Given the description of an element on the screen output the (x, y) to click on. 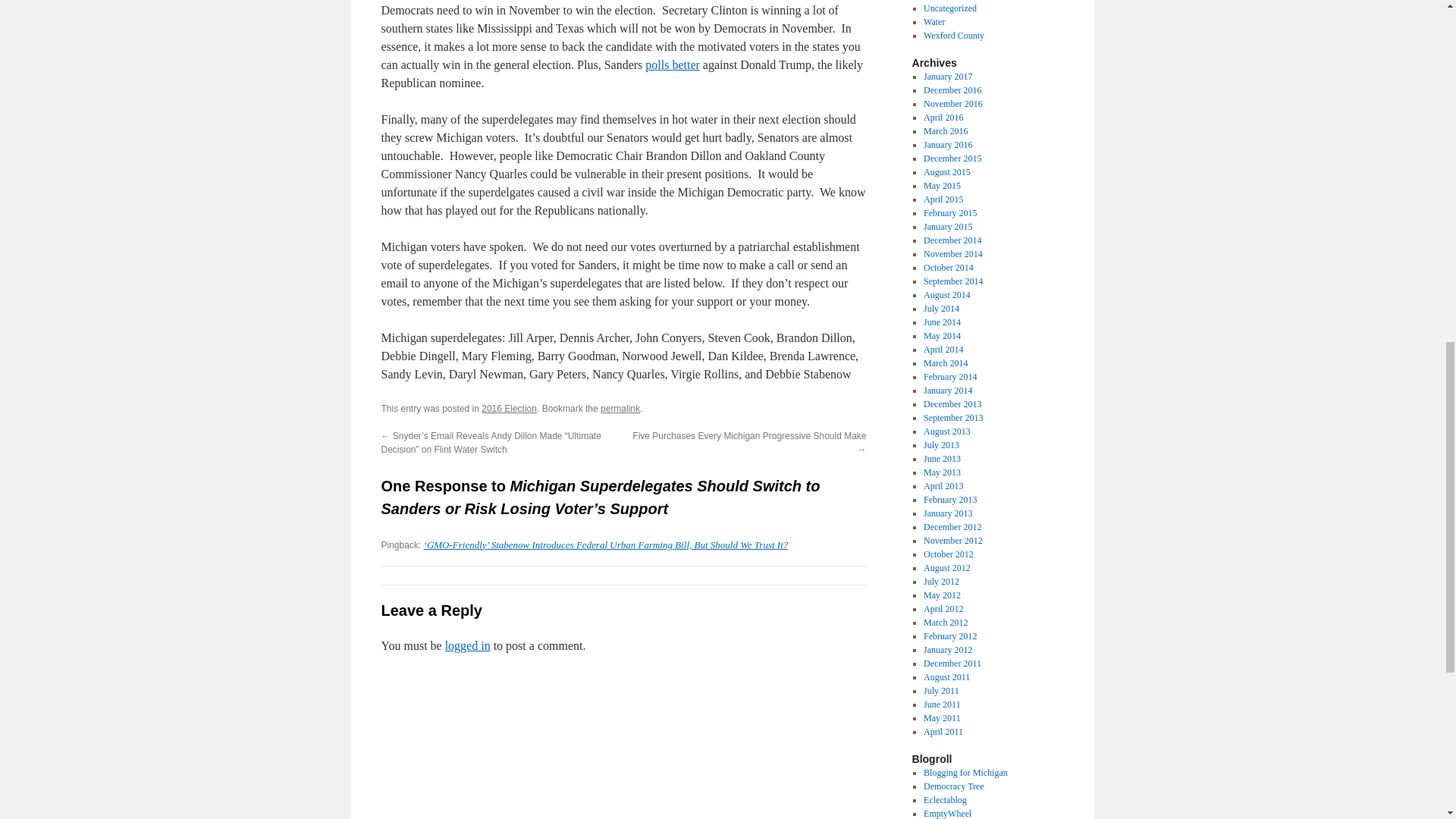
EmptyWheel blog (947, 813)
logged in (467, 645)
Sanders Poll (672, 64)
2016 Election (509, 408)
permalink (619, 408)
polls better (672, 64)
